Given the description of an element on the screen output the (x, y) to click on. 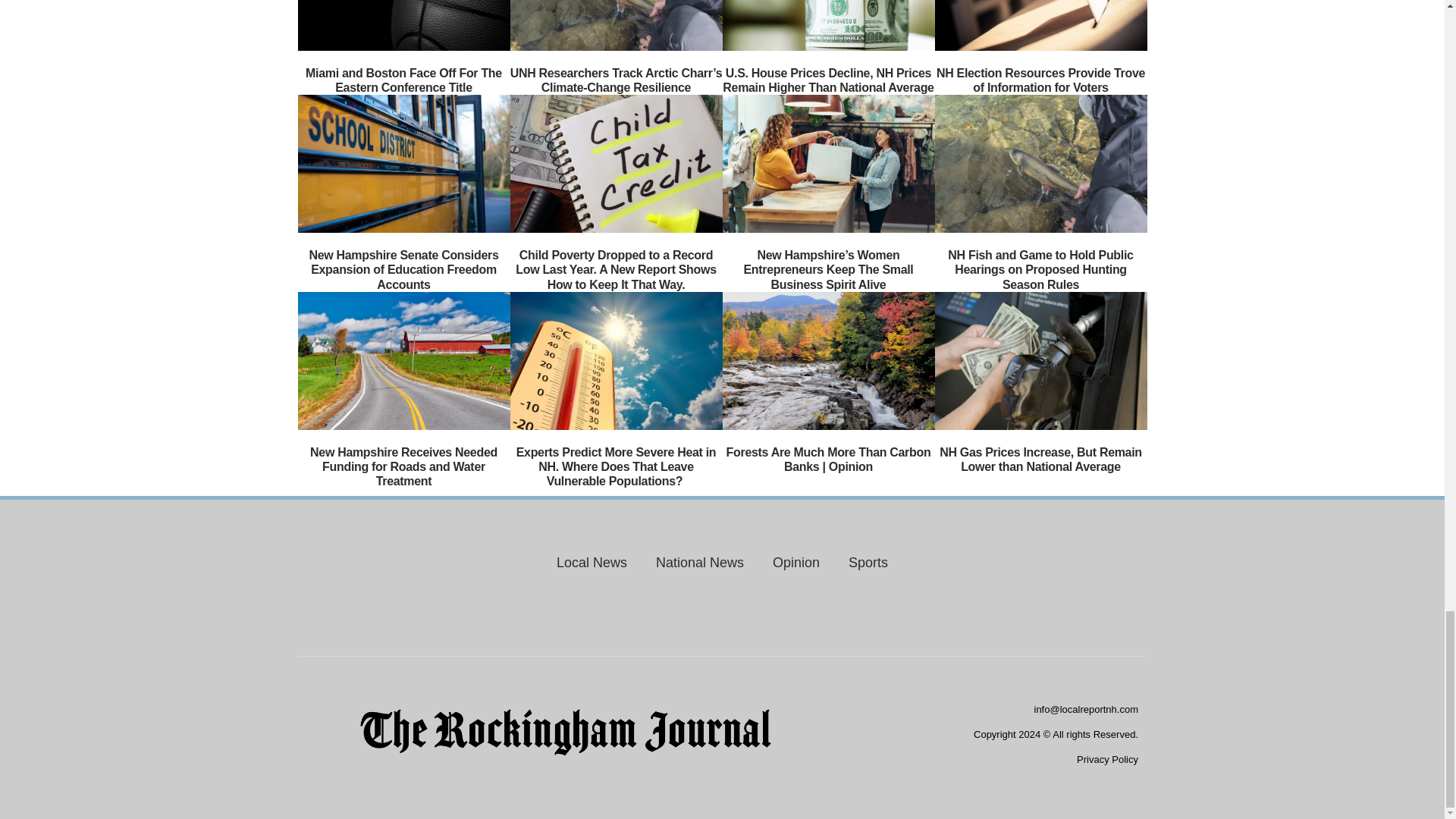
Miami and Boston Face Off For The Eastern Conference Title (403, 80)
